Given the description of an element on the screen output the (x, y) to click on. 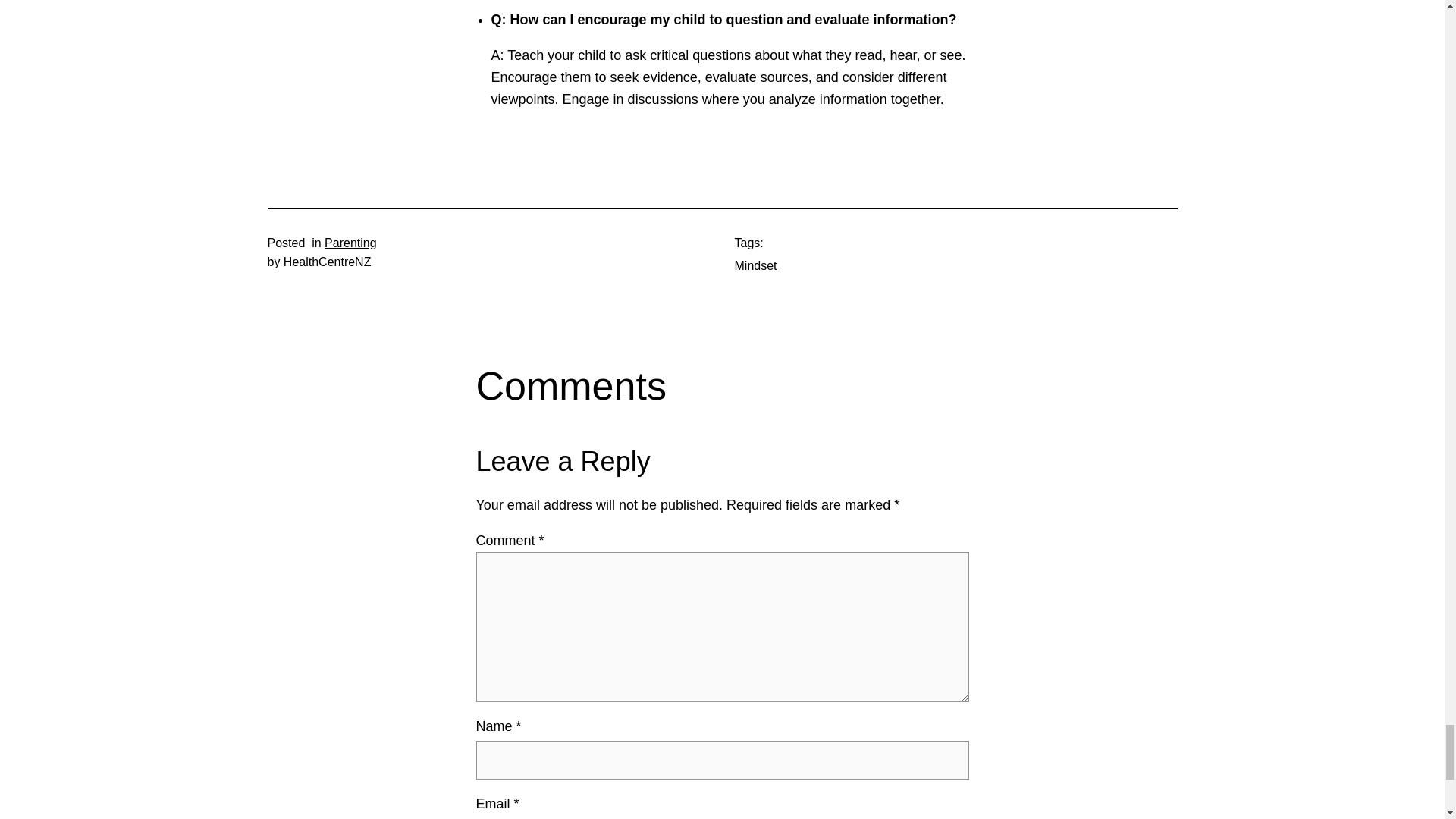
Parenting (350, 242)
Mindset (754, 265)
